Given the description of an element on the screen output the (x, y) to click on. 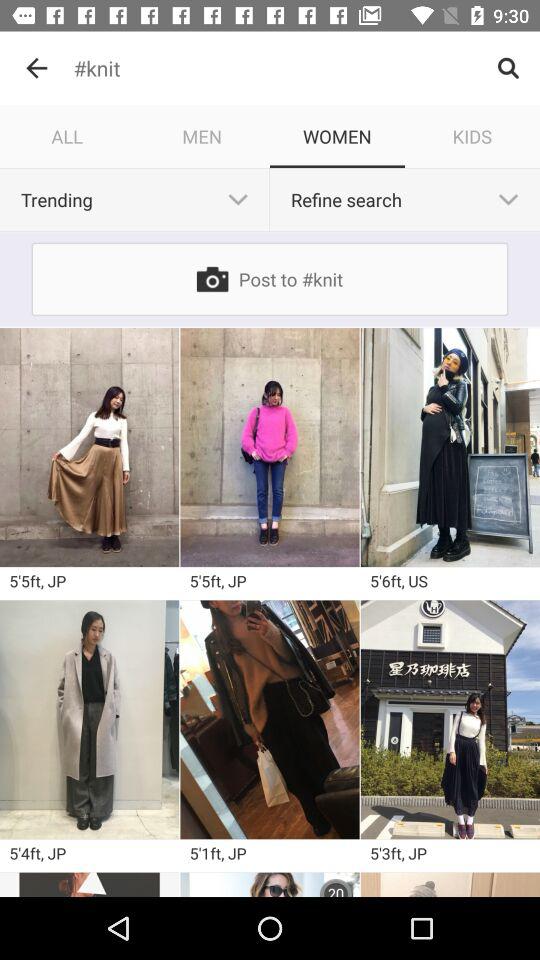
share the article (269, 719)
